Given the description of an element on the screen output the (x, y) to click on. 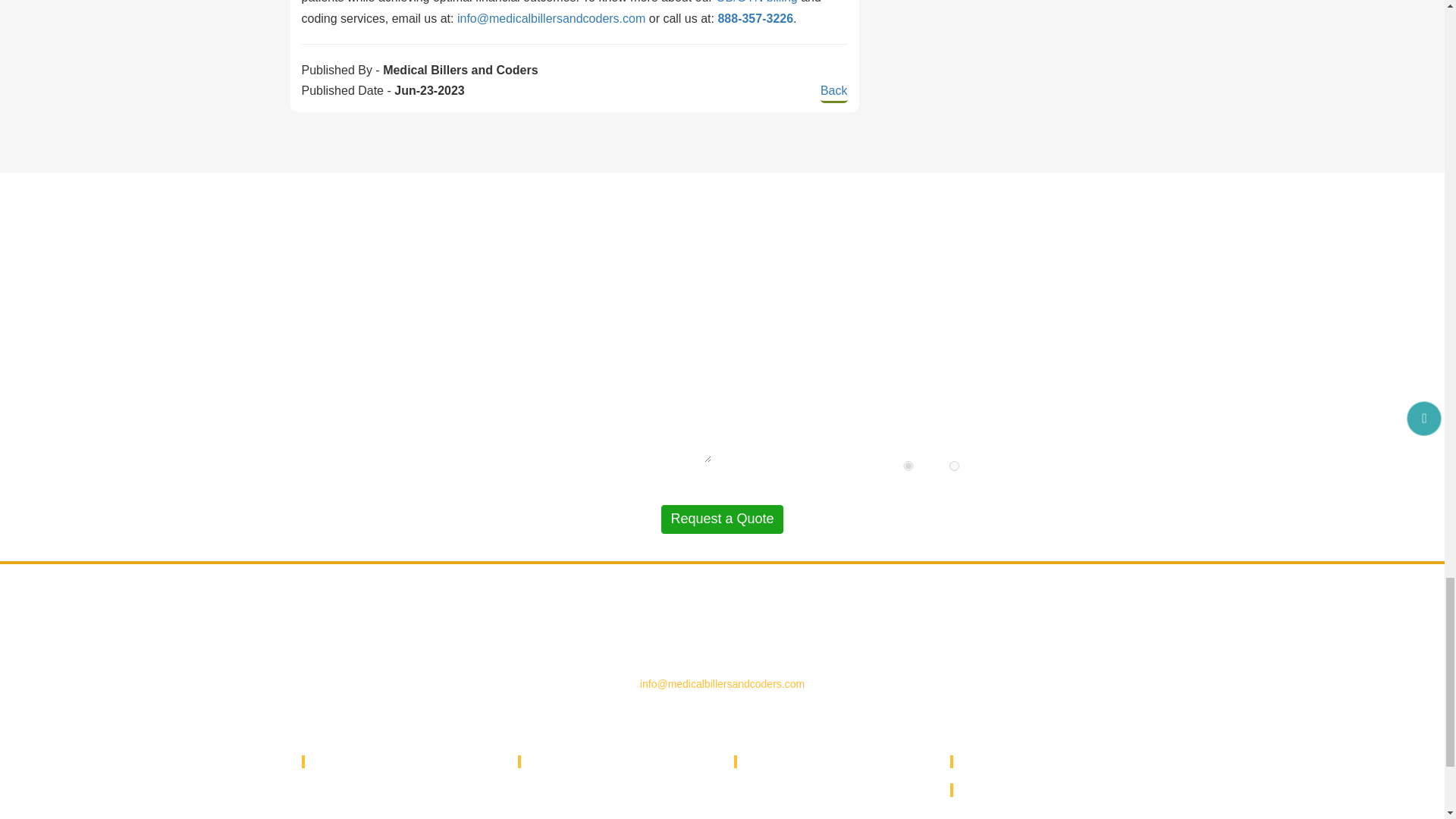
Yes (907, 465)
No (954, 465)
